Given the description of an element on the screen output the (x, y) to click on. 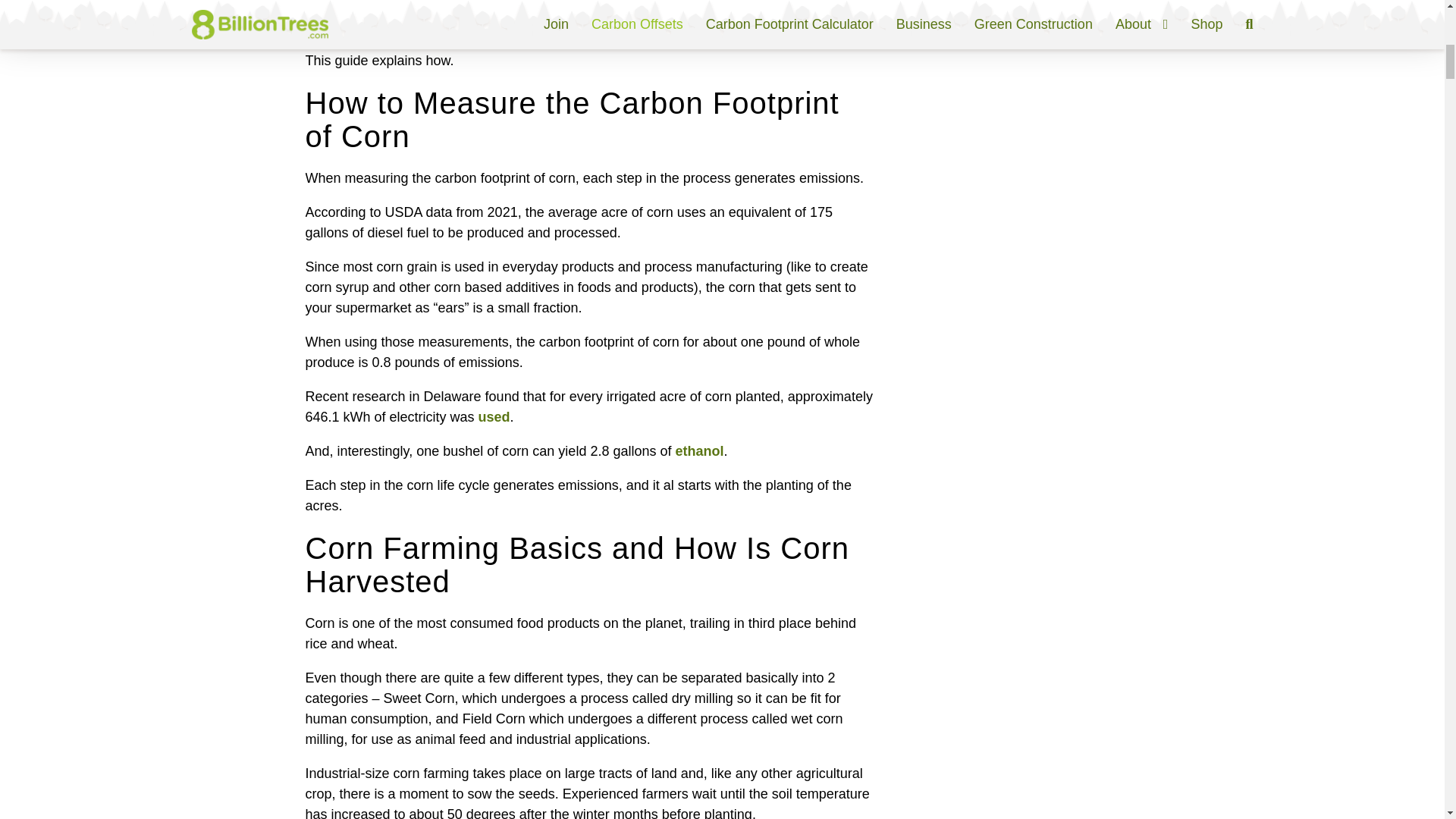
used (495, 417)
ethanol (699, 450)
